Given the description of an element on the screen output the (x, y) to click on. 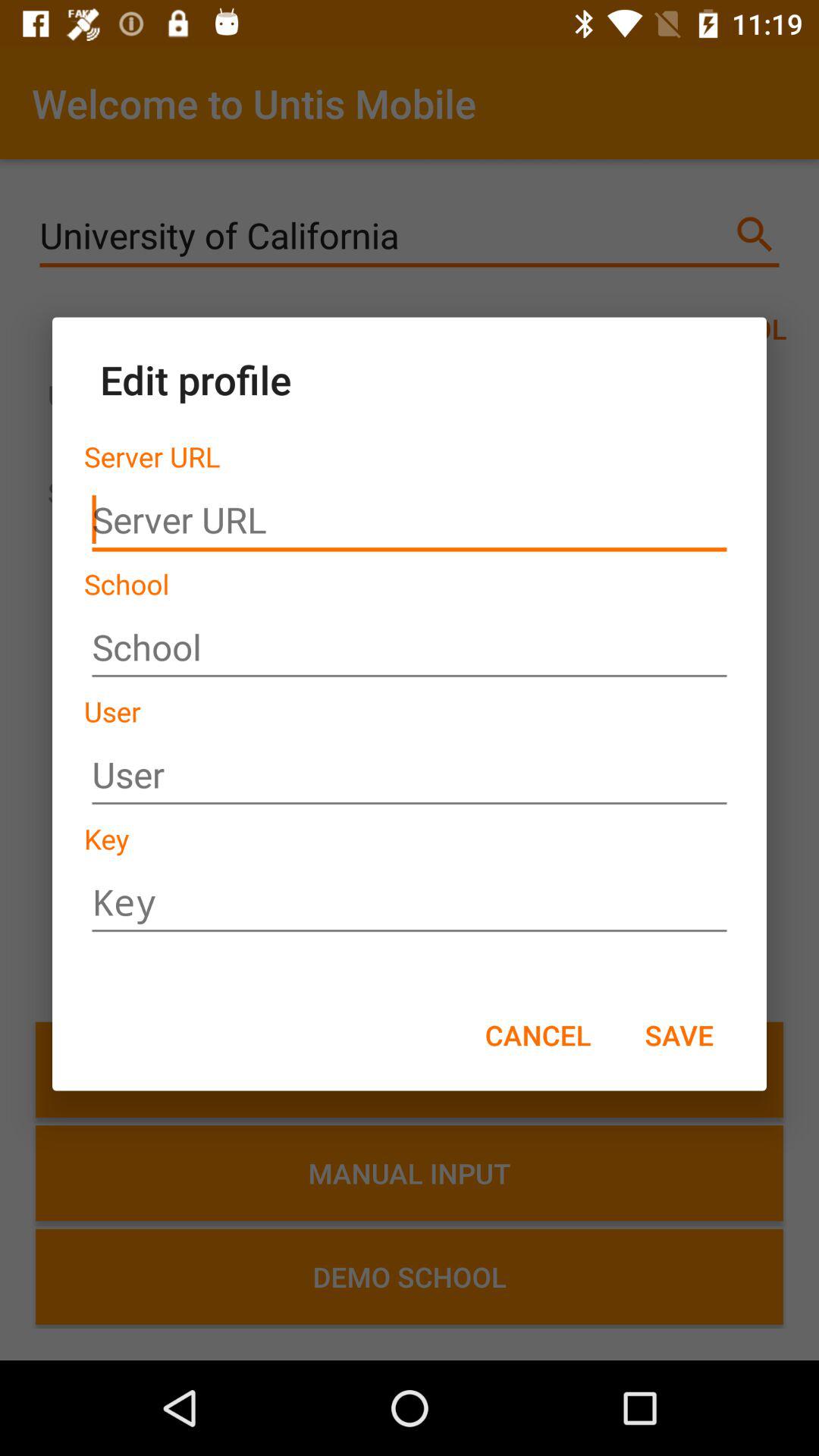
enter server address (409, 520)
